Given the description of an element on the screen output the (x, y) to click on. 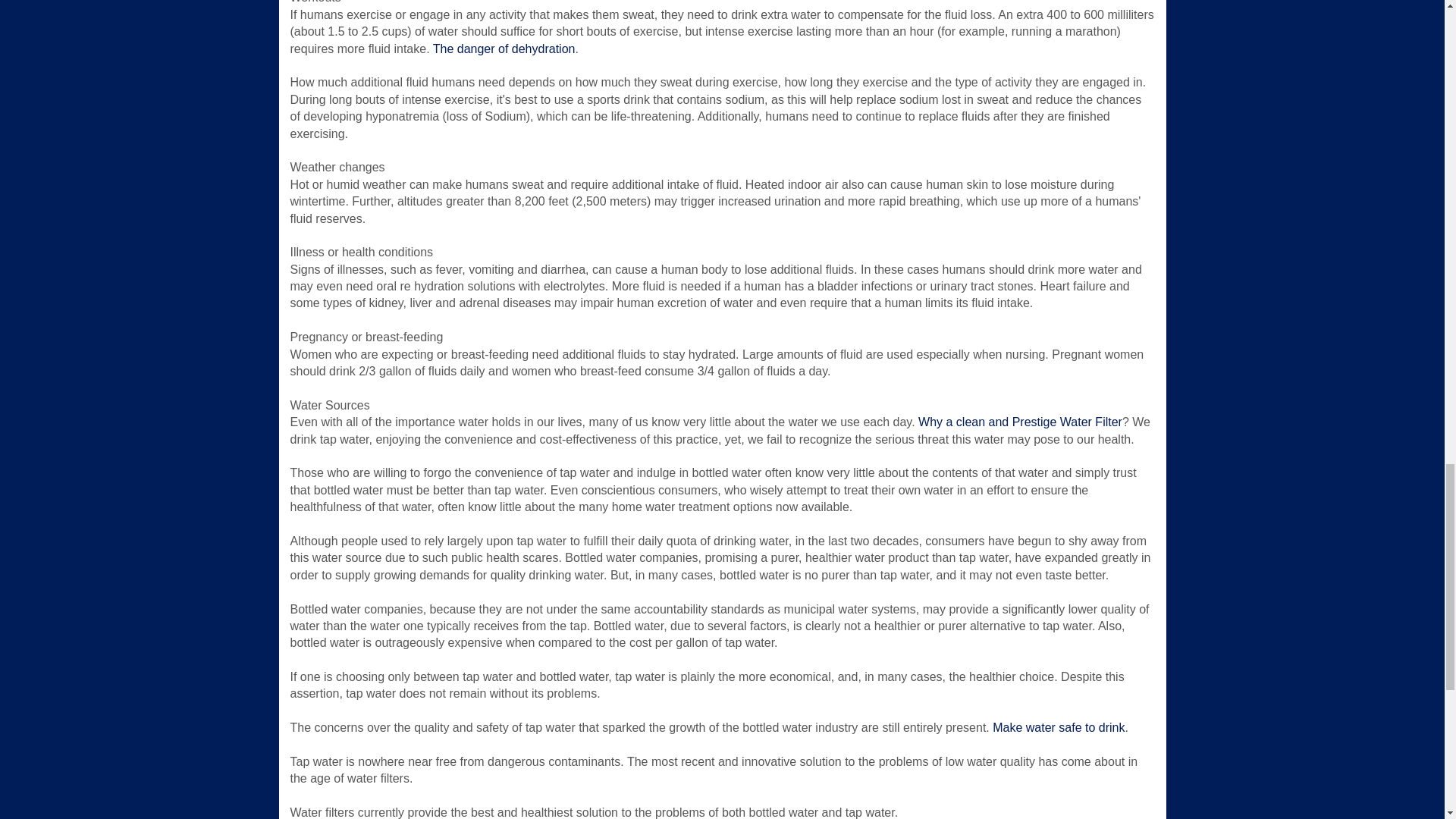
Why a clean and Prestige Water Filter (1020, 421)
Make water safe to drink (1058, 727)
The danger of dehydration (503, 48)
